Given the description of an element on the screen output the (x, y) to click on. 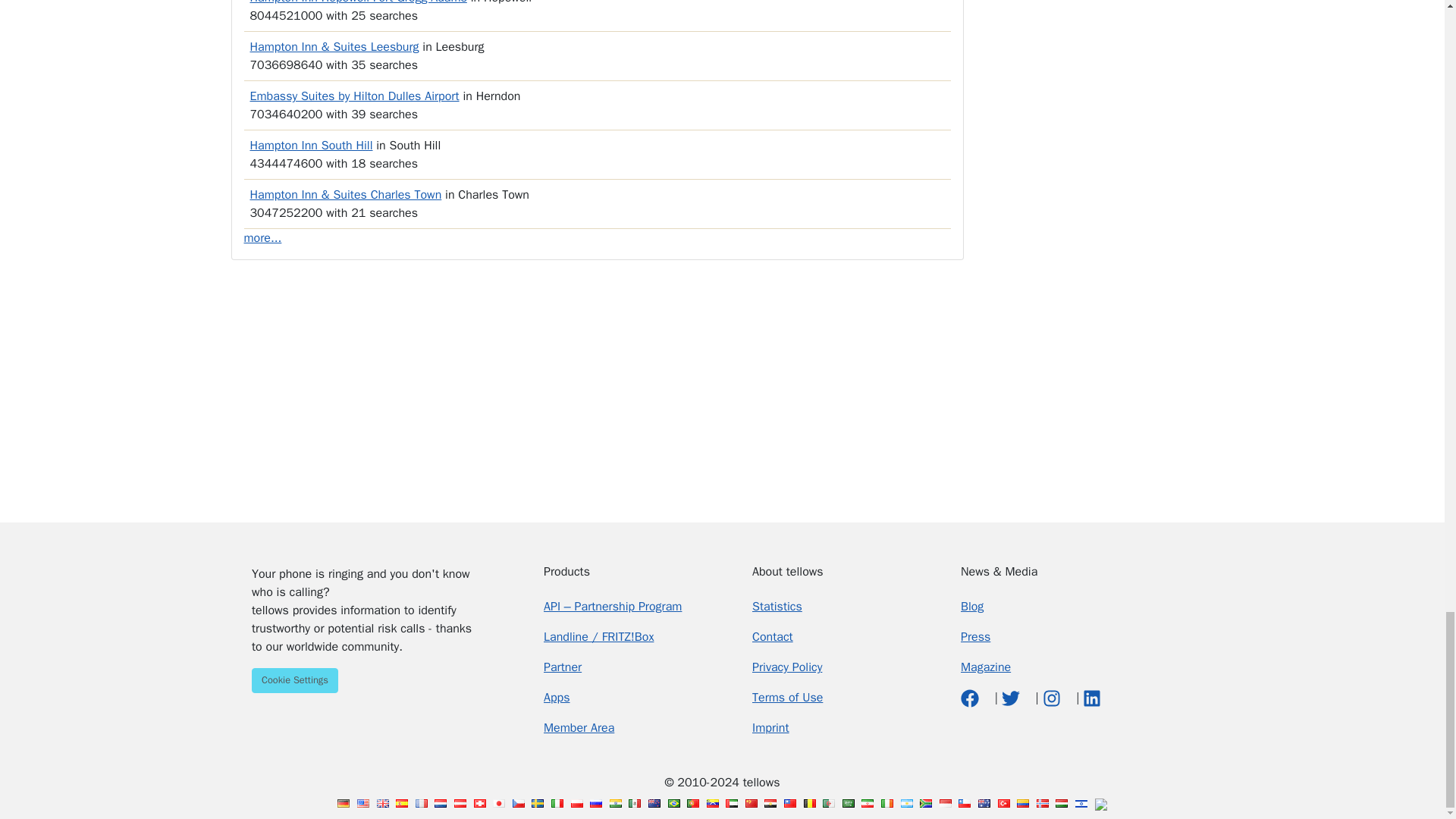
Magazin (985, 667)
tellows Austria (459, 803)
tellows USA (362, 803)
tellows Japan (499, 803)
twitter (1012, 697)
Instagram (1053, 697)
Facebook (971, 697)
LinkedIn (1091, 697)
Presse (975, 636)
tellows Great Britain (382, 803)
